Given the description of an element on the screen output the (x, y) to click on. 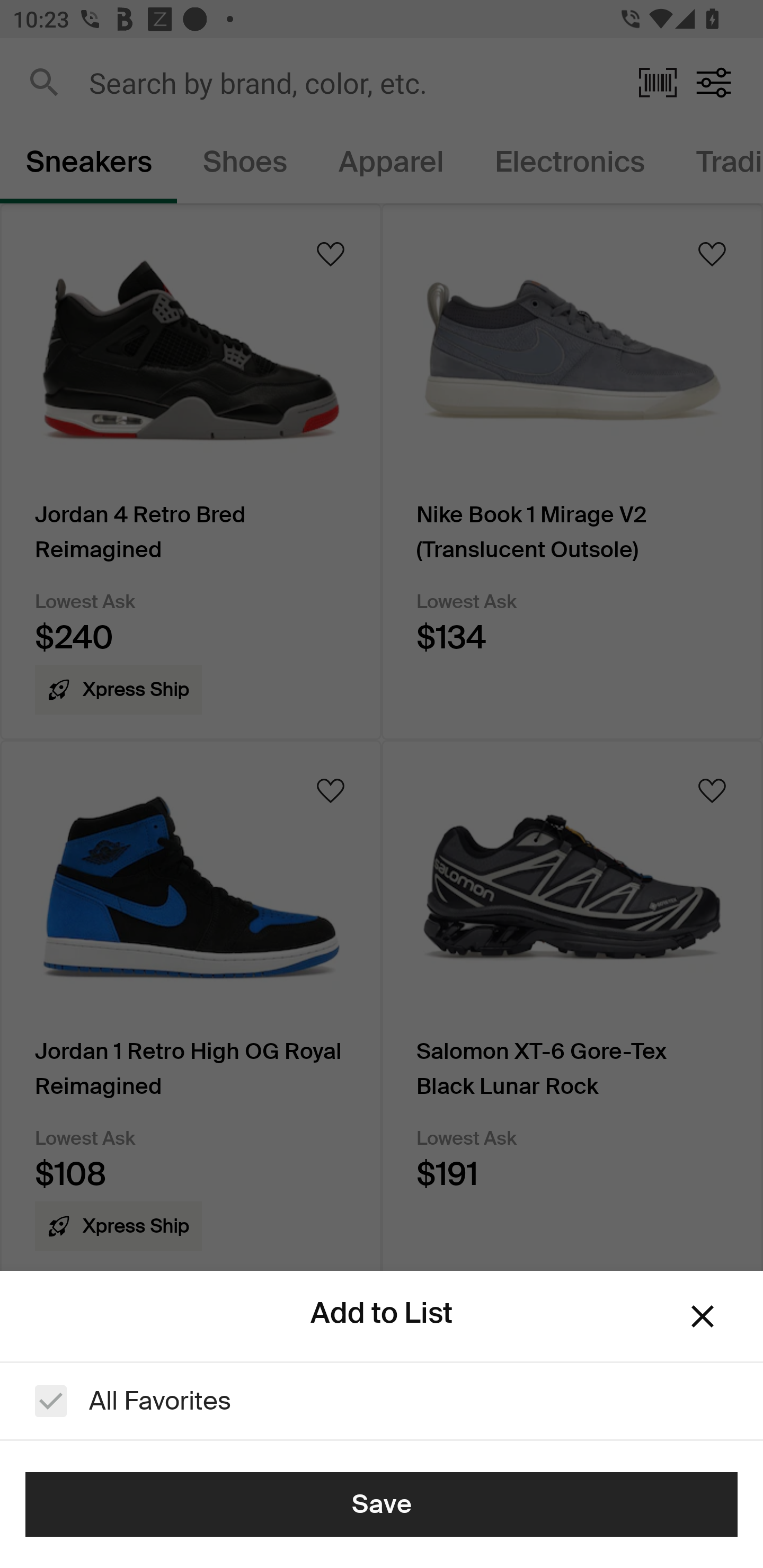
Dismiss (702, 1315)
All Favorites (381, 1400)
Save (381, 1504)
